Given the description of an element on the screen output the (x, y) to click on. 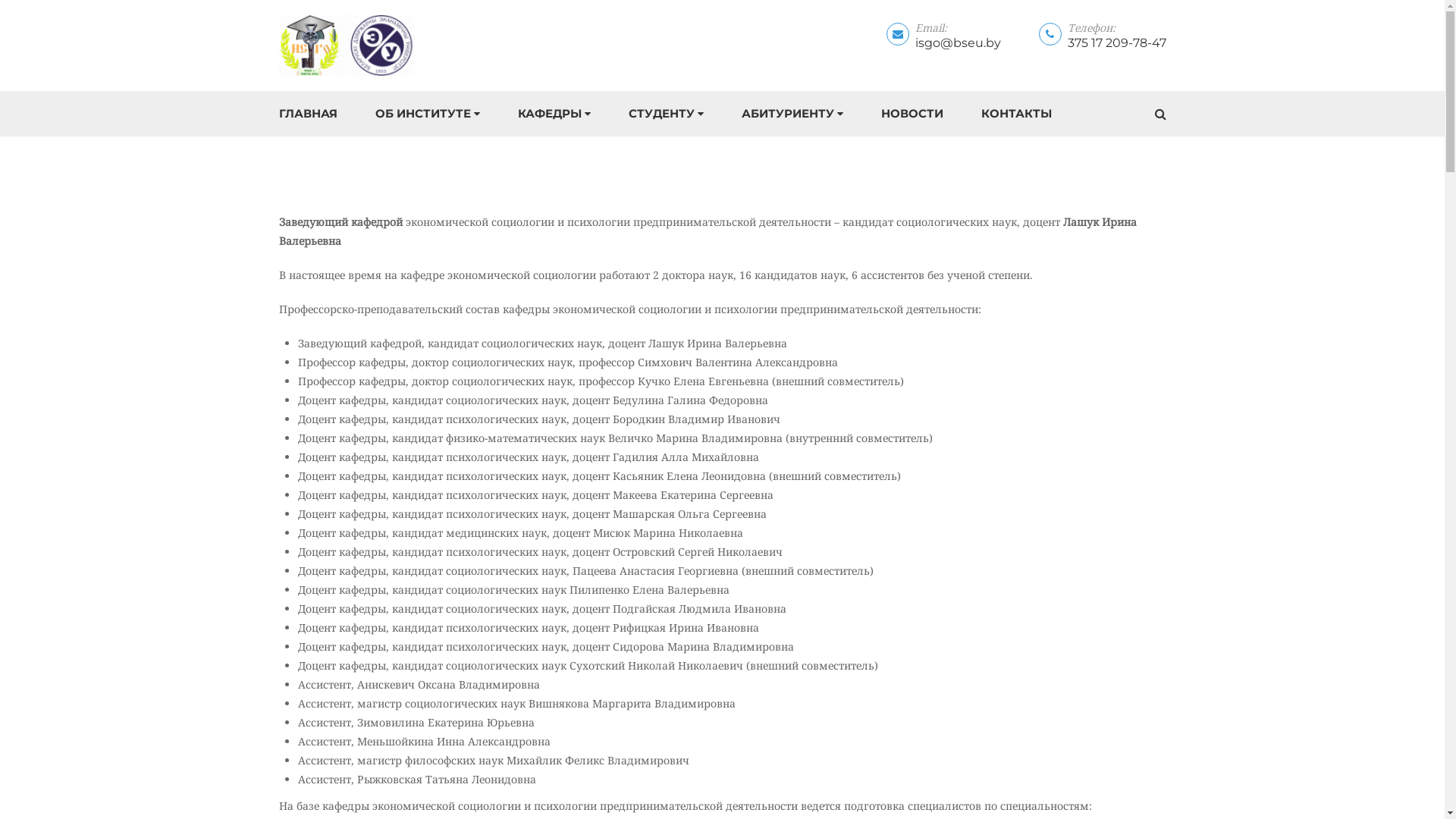
isgo@bseu.by Element type: text (957, 42)
375 17 209-78-47 Element type: text (1116, 42)
